Given the description of an element on the screen output the (x, y) to click on. 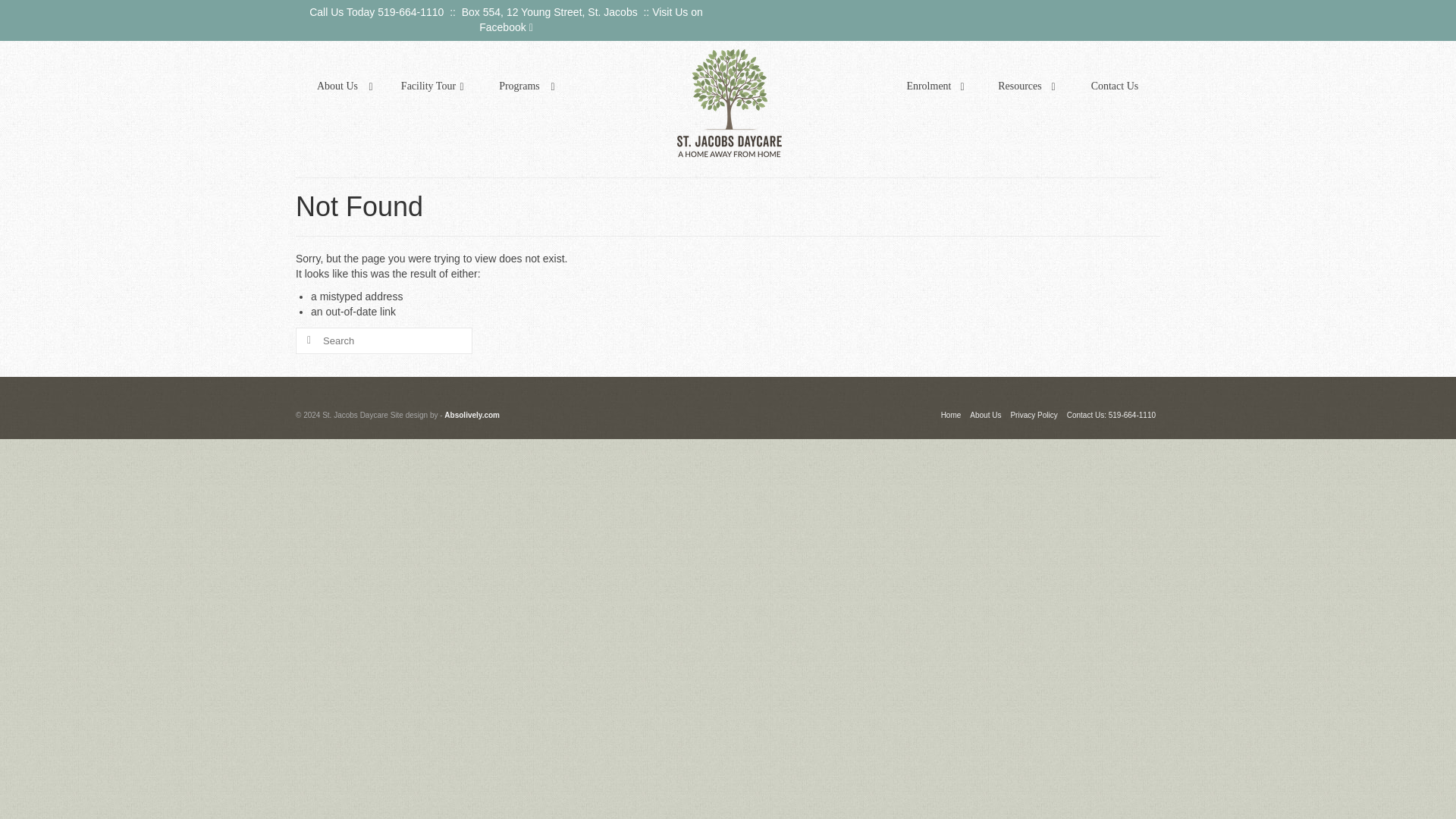
Facebook (505, 27)
Resources (1023, 86)
519-664-1110 (410, 11)
About Us (341, 86)
Programs (523, 86)
Facility Tour (432, 86)
St. Jacobs Daycare (729, 103)
Enrolment (932, 86)
Contact Us (1114, 86)
